Given the description of an element on the screen output the (x, y) to click on. 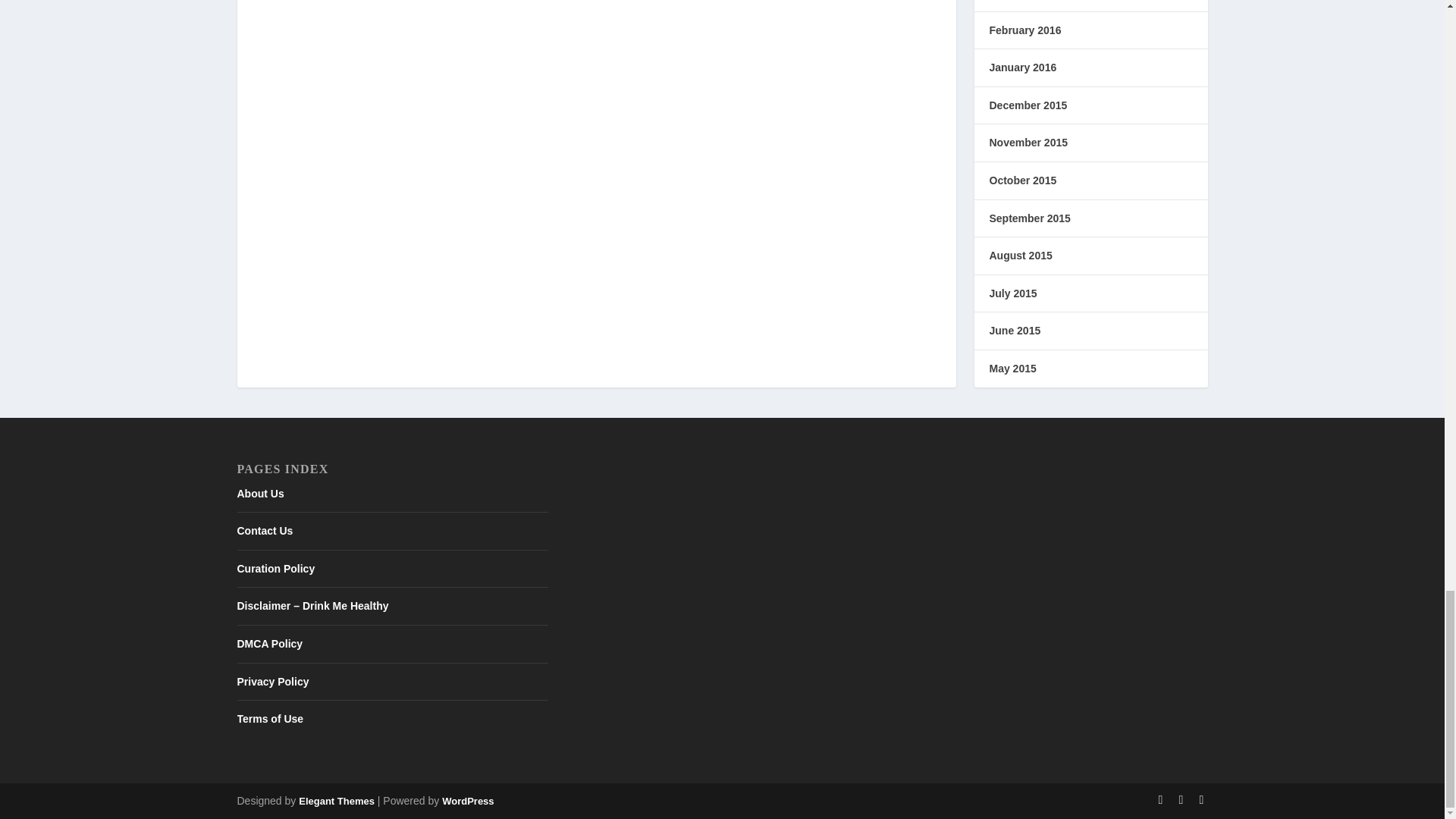
Premium WordPress Themes (336, 800)
